Given the description of an element on the screen output the (x, y) to click on. 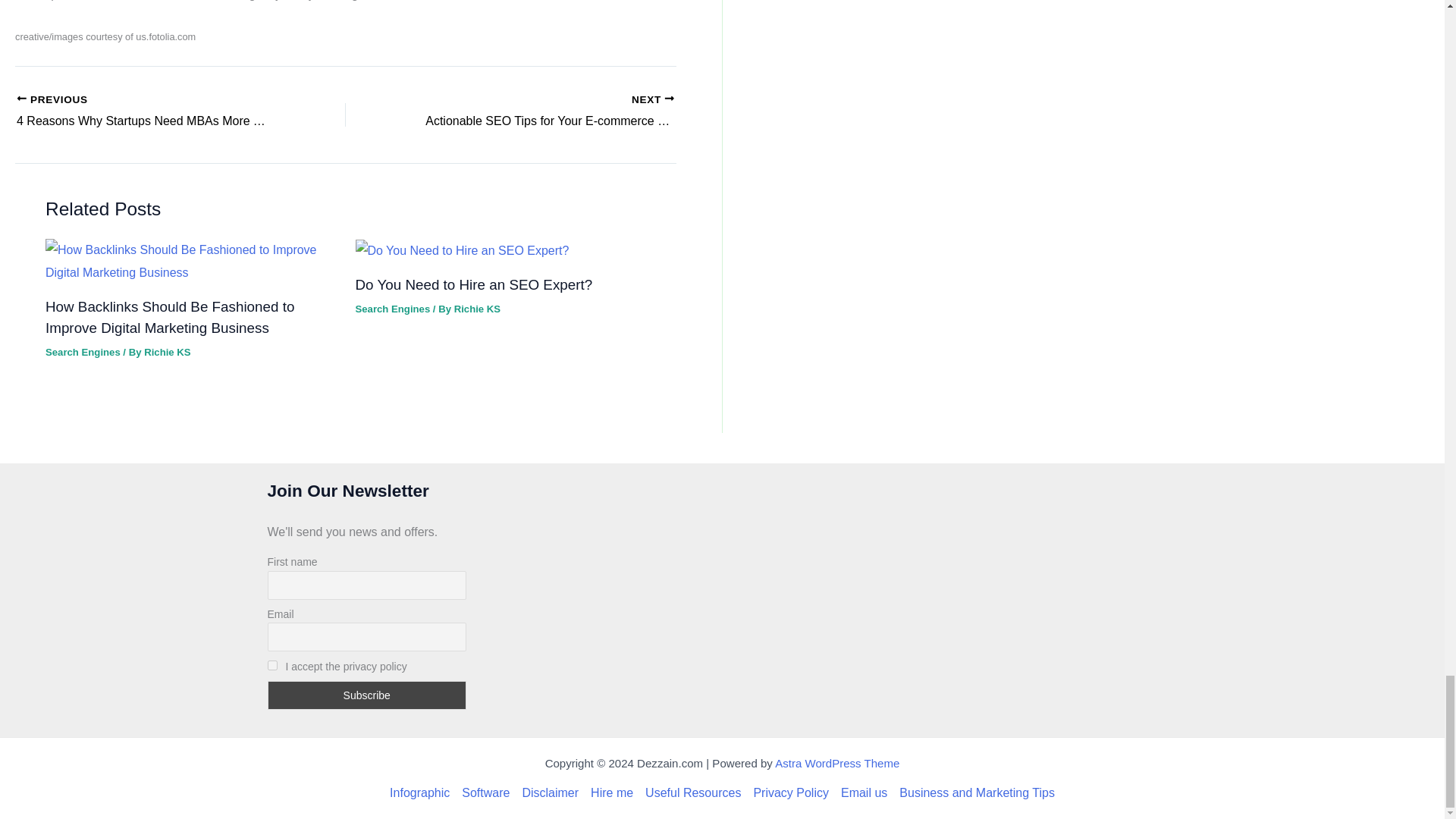
Subscribe (148, 111)
Actionable SEO Tips for Your E-commerce Website (365, 695)
4 Reasons Why Startups Need MBAs More Than Ever (542, 111)
on (148, 111)
View all posts by Richie KS (542, 111)
